Given the description of an element on the screen output the (x, y) to click on. 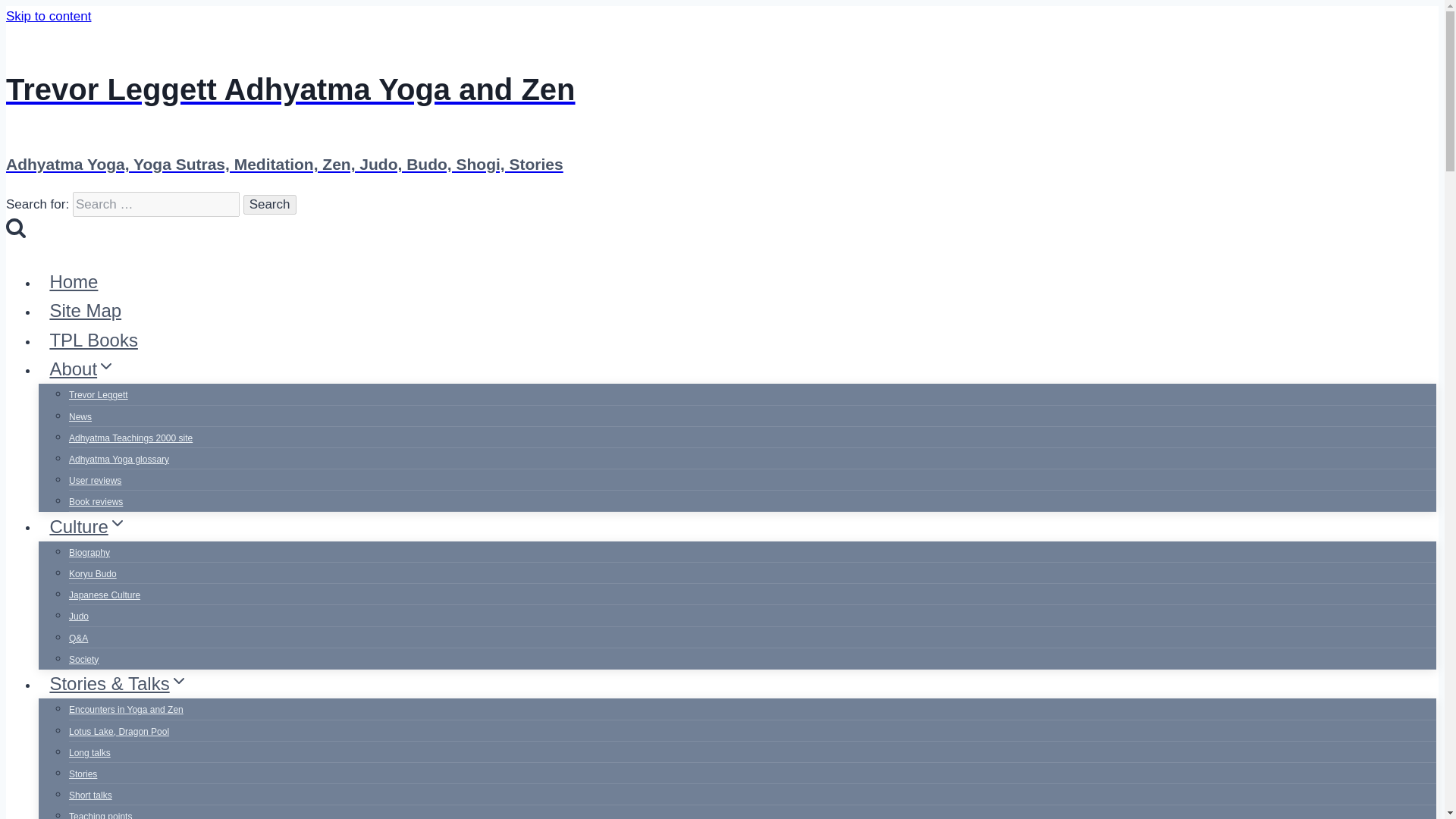
AboutExpand (82, 368)
Japanese Culture (103, 594)
Stories (82, 774)
Expand (116, 523)
Expand (106, 366)
Search (270, 204)
TPL Books (93, 339)
Home (74, 281)
Book reviews (95, 501)
Site Map (85, 310)
